Given the description of an element on the screen output the (x, y) to click on. 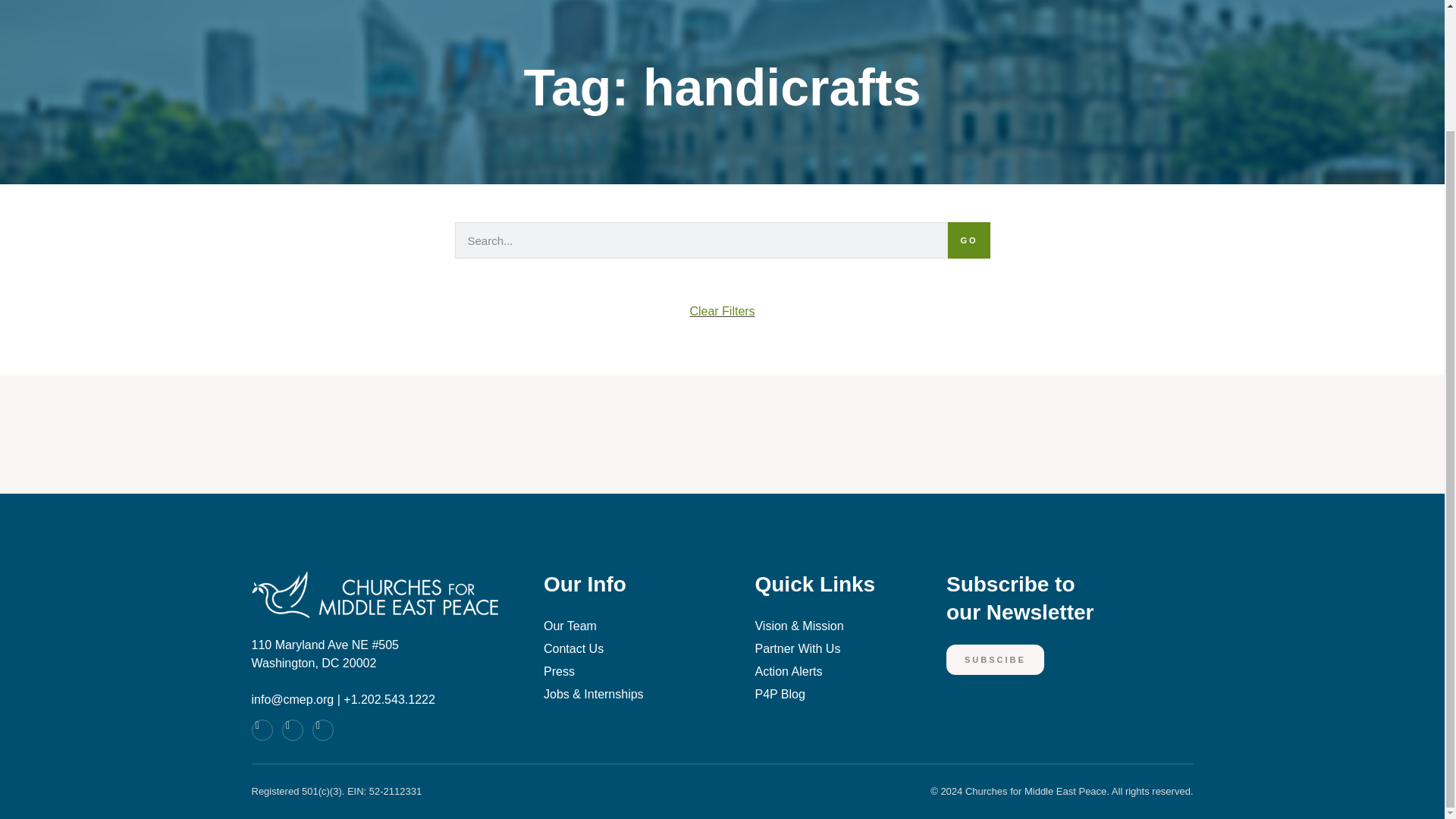
Our Info (626, 593)
SUBSCIBE (1069, 607)
Clear Filters (994, 659)
Tag: handicrafts (721, 316)
GO (722, 87)
Quick Links (721, 257)
